Given the description of an element on the screen output the (x, y) to click on. 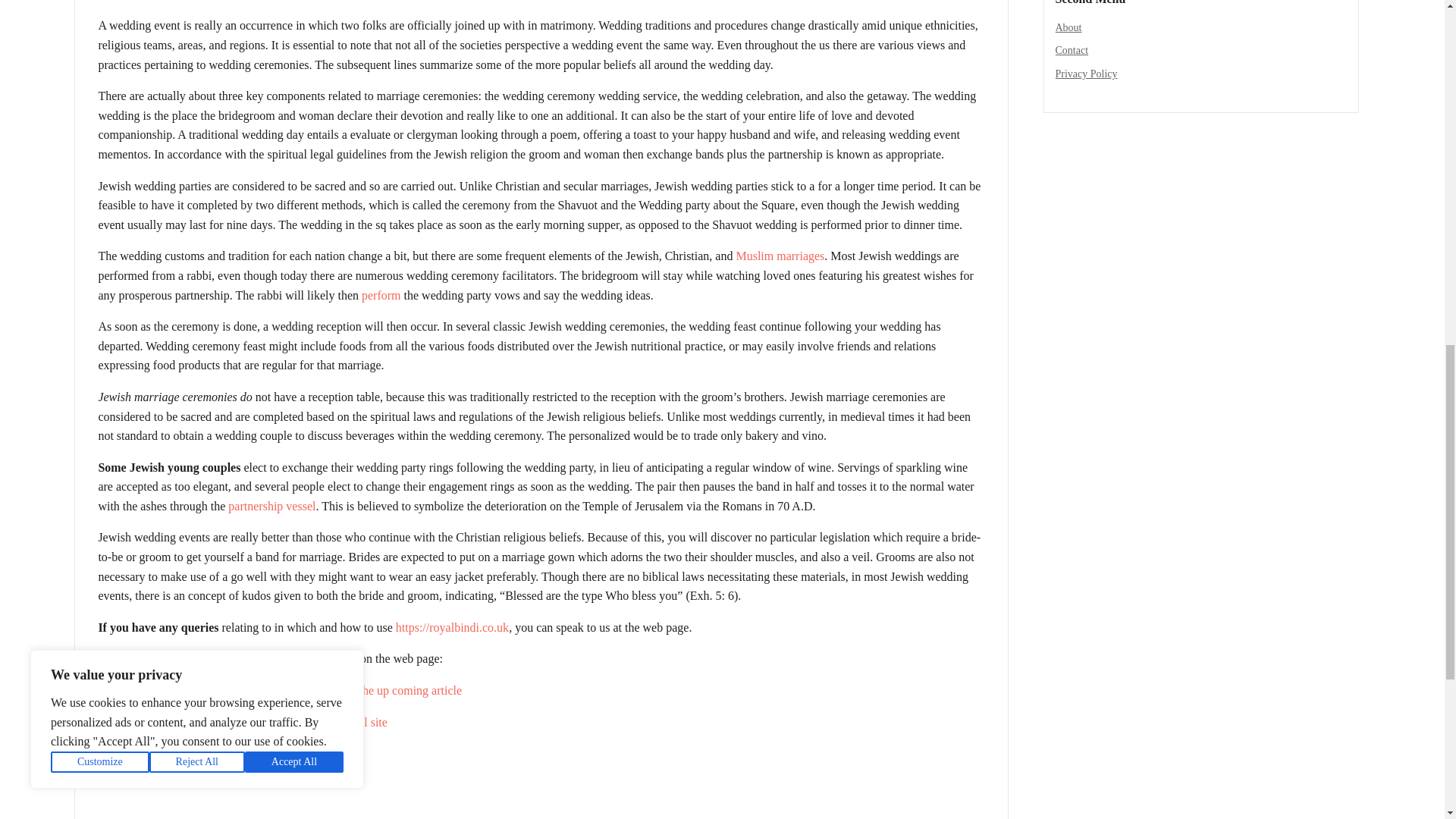
helpful site (360, 721)
perform (381, 295)
partnership vessel (271, 505)
Muslim marriages (779, 255)
admin (119, 0)
Visit the up coming article (397, 689)
